Given the description of an element on the screen output the (x, y) to click on. 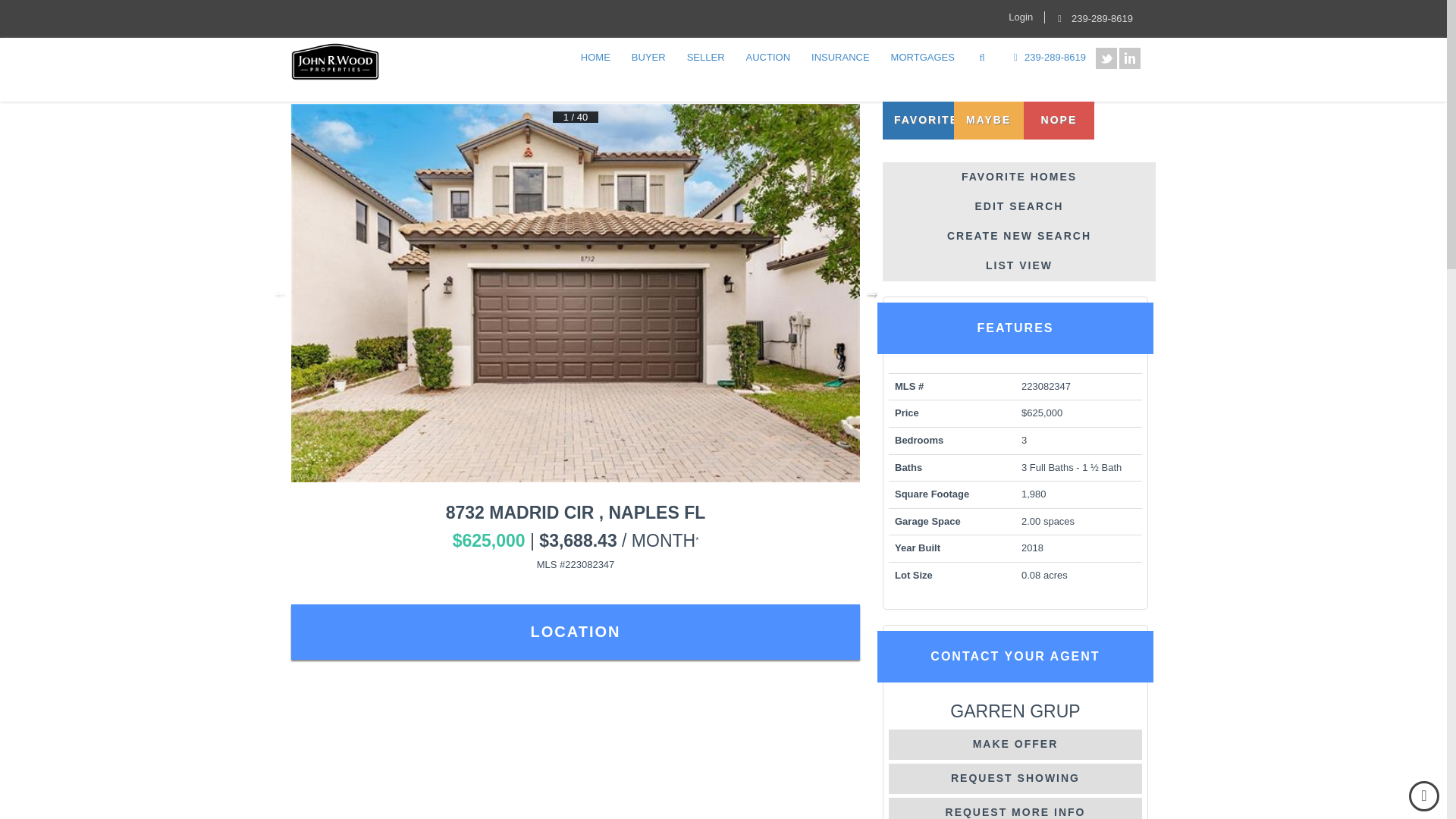
Previous (279, 292)
MORTGAGES (922, 57)
BUYER (648, 57)
HOME (595, 57)
SELLER (705, 57)
Login (1020, 16)
239-289-8619 (1092, 18)
AUCTION (768, 57)
INSURANCE (839, 57)
239-289-8619 (1047, 57)
